Given the description of an element on the screen output the (x, y) to click on. 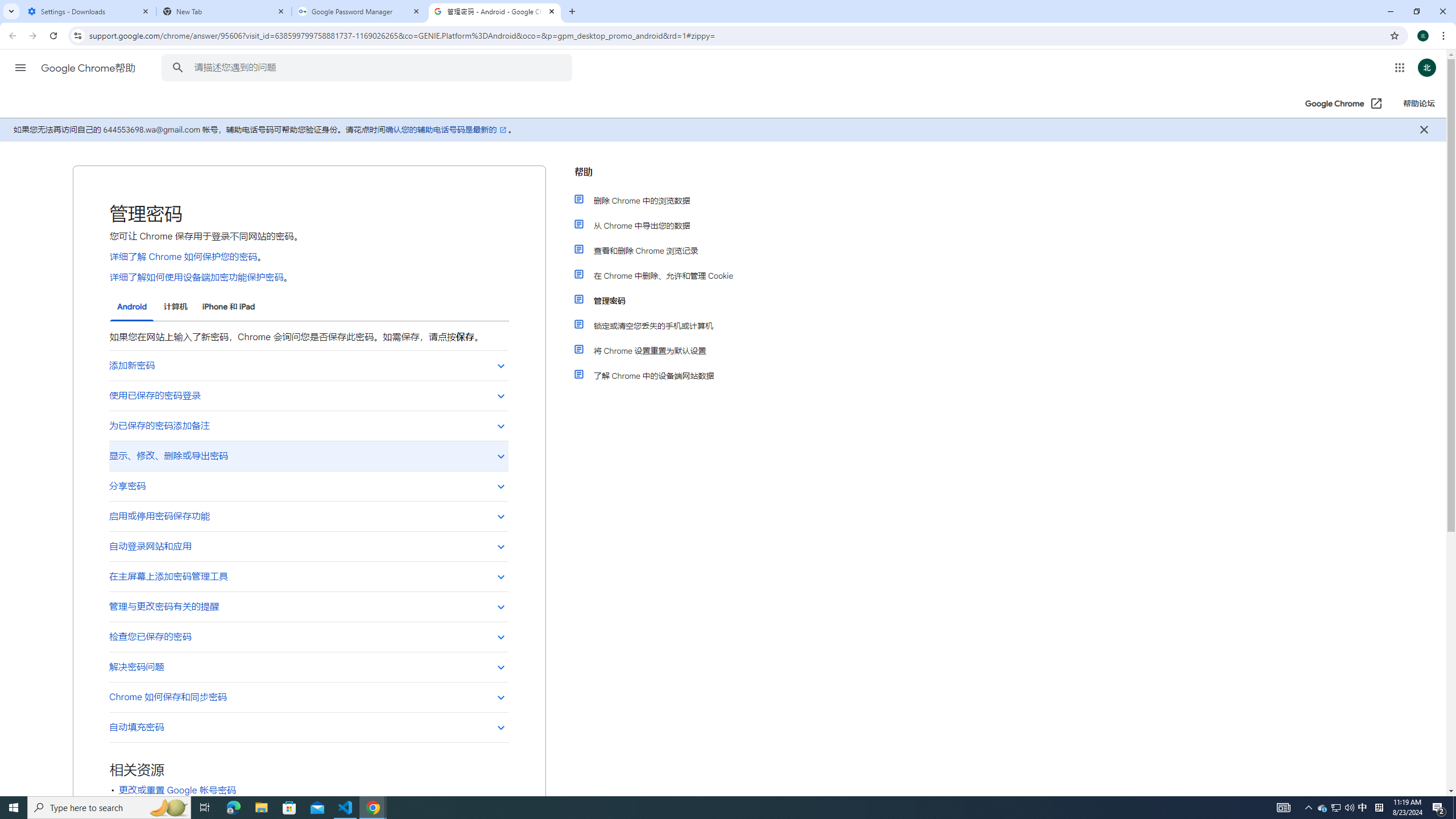
New Tab (224, 11)
